Given the description of an element on the screen output the (x, y) to click on. 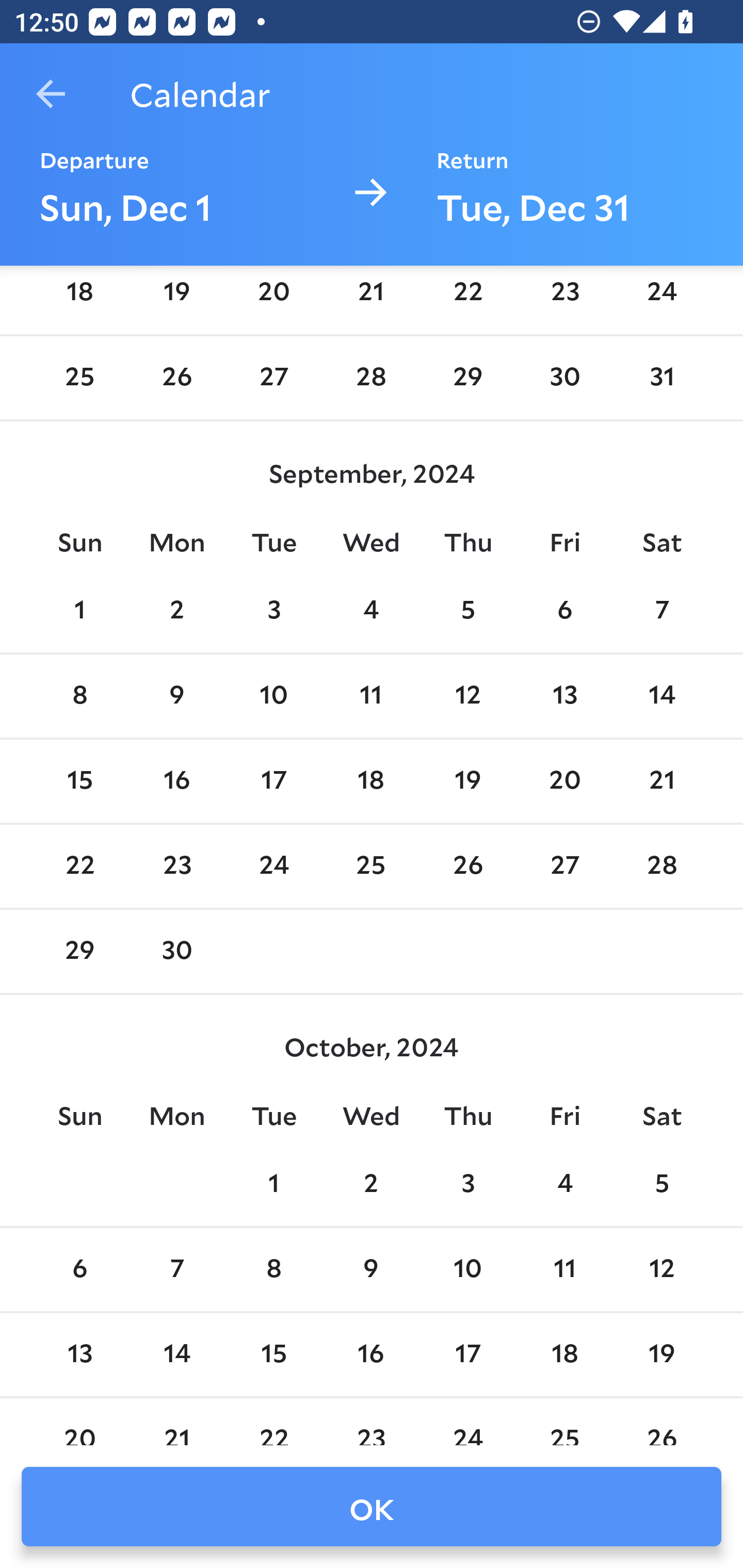
Navigate up (50, 93)
18 (79, 296)
19 (177, 296)
20 (273, 296)
21 (371, 296)
22 (467, 296)
23 (565, 296)
24 (661, 296)
25 (79, 377)
26 (177, 377)
27 (273, 377)
28 (371, 377)
29 (467, 377)
30 (565, 377)
31 (661, 377)
1 (79, 611)
2 (177, 611)
3 (273, 611)
4 (371, 611)
5 (467, 611)
6 (565, 611)
7 (661, 611)
8 (79, 696)
9 (177, 696)
10 (273, 696)
11 (371, 696)
12 (467, 696)
13 (565, 696)
14 (661, 696)
15 (79, 780)
16 (177, 780)
17 (273, 780)
18 (371, 780)
19 (467, 780)
20 (565, 780)
21 (661, 780)
22 (79, 867)
23 (177, 867)
24 (273, 867)
25 (371, 867)
26 (467, 867)
27 (565, 867)
28 (661, 867)
29 (79, 951)
30 (177, 951)
1 (273, 1185)
2 (371, 1185)
3 (467, 1185)
4 (565, 1185)
5 (661, 1185)
6 (79, 1270)
7 (177, 1270)
8 (273, 1270)
9 (371, 1270)
10 (467, 1270)
11 (565, 1270)
12 (661, 1270)
13 (79, 1354)
14 (177, 1354)
15 (273, 1354)
16 (371, 1354)
17 (467, 1354)
18 (565, 1354)
19 (661, 1354)
OK (371, 1506)
